Given the description of an element on the screen output the (x, y) to click on. 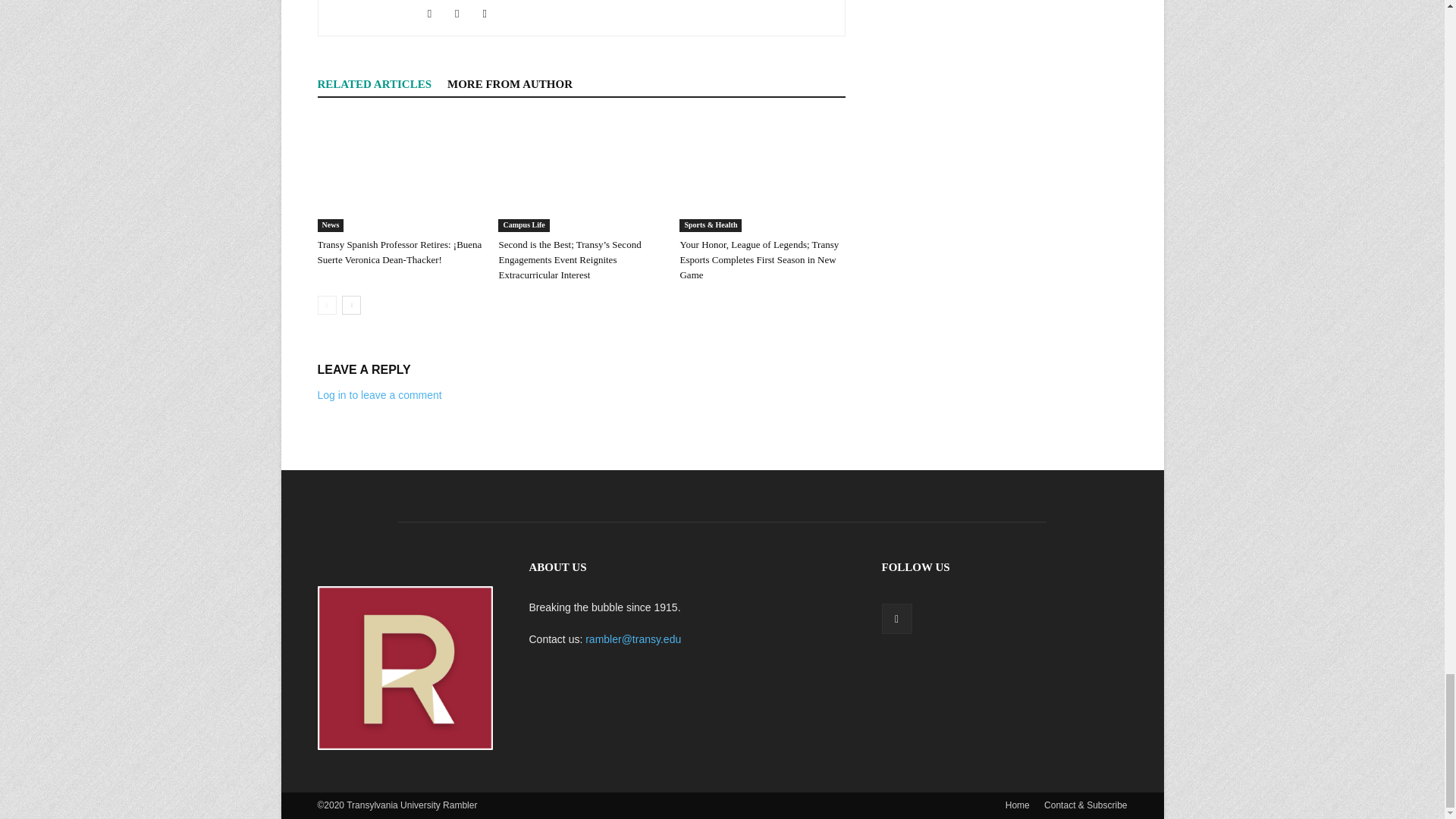
Twitter (489, 13)
Linkedin (462, 13)
Instagram (435, 13)
